Given the description of an element on the screen output the (x, y) to click on. 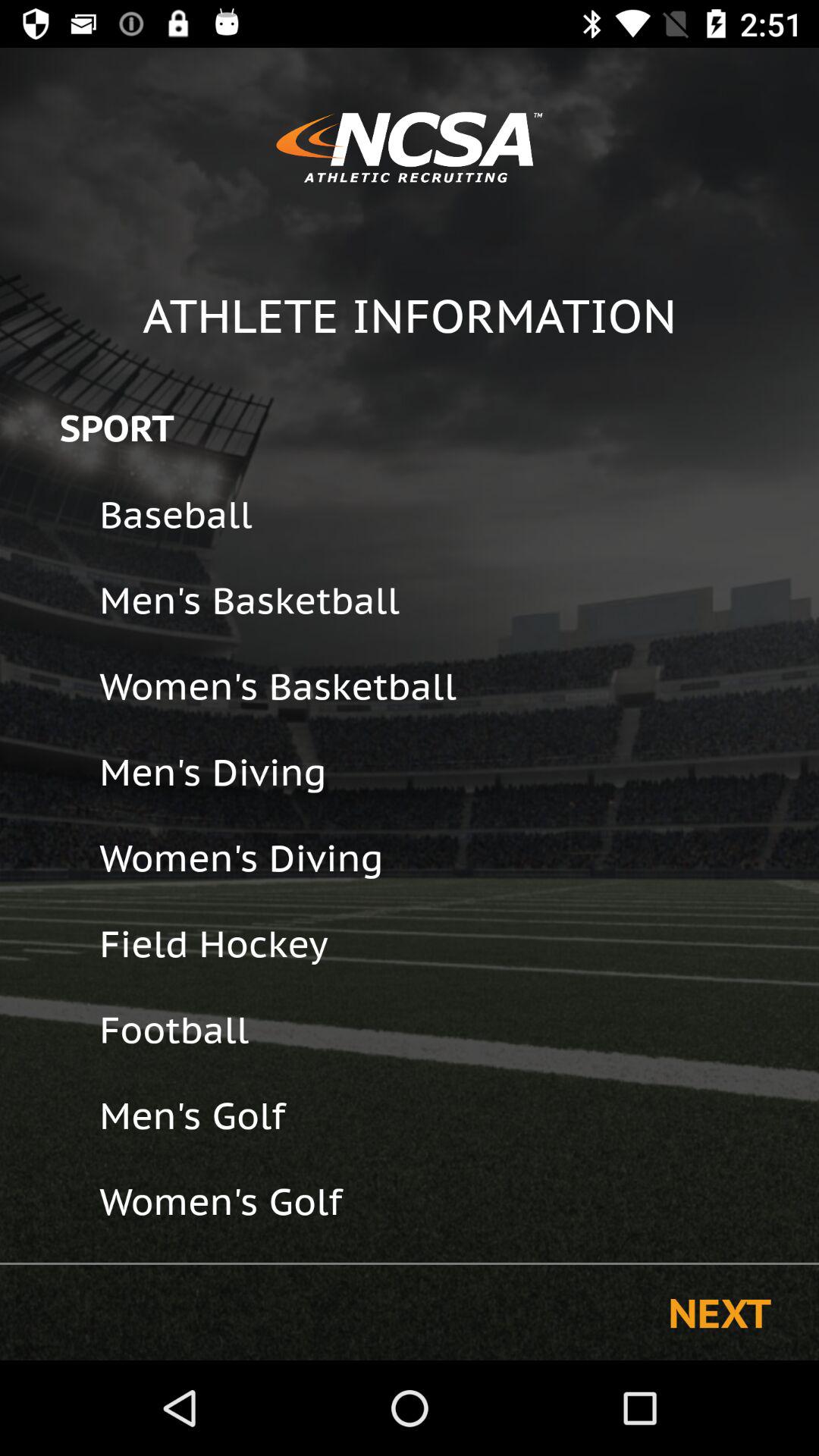
scroll to the field hockey (449, 943)
